Given the description of an element on the screen output the (x, y) to click on. 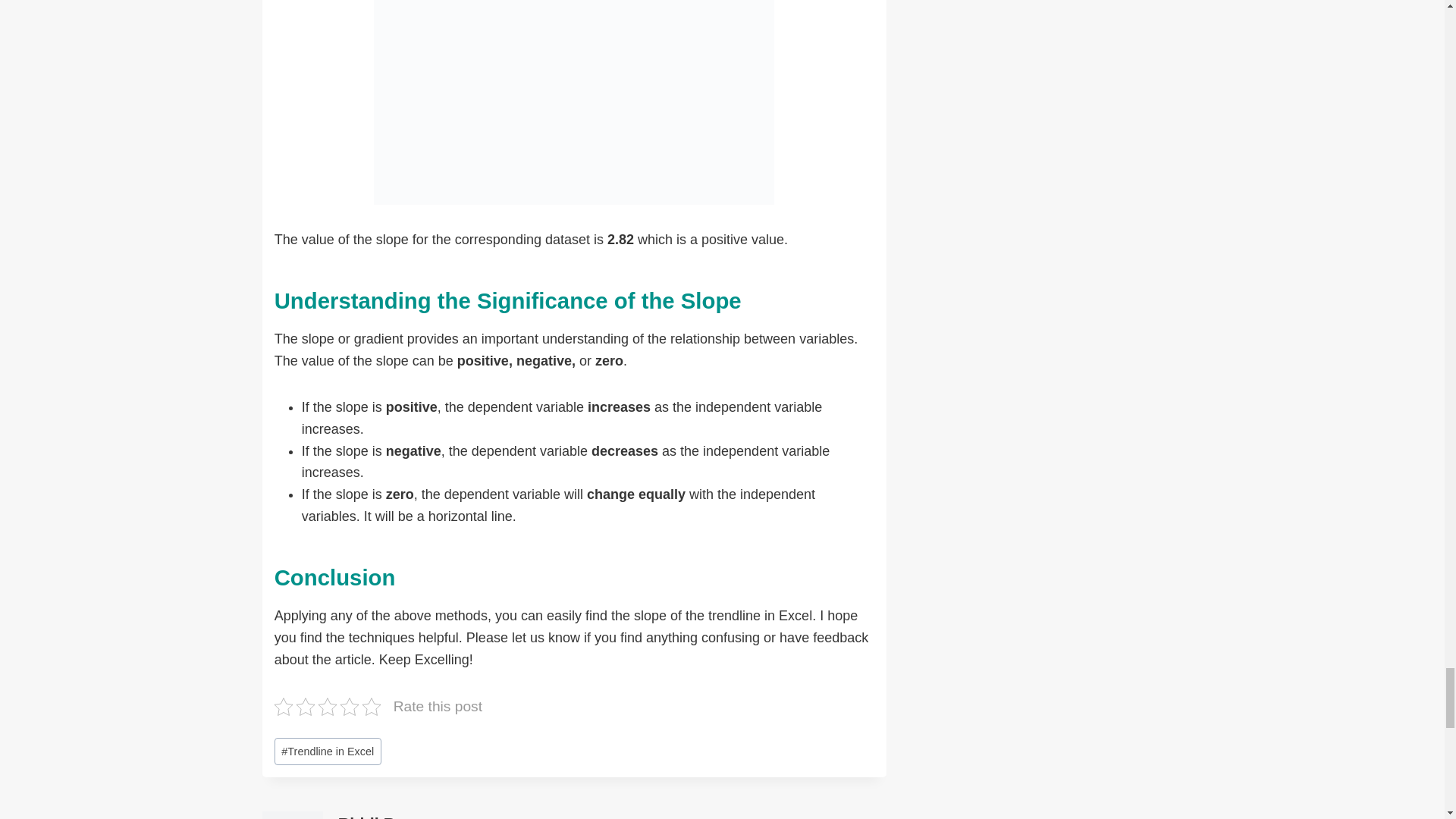
Trendline in Excel (328, 751)
Posts by Rhidi Barma (385, 816)
